Given the description of an element on the screen output the (x, y) to click on. 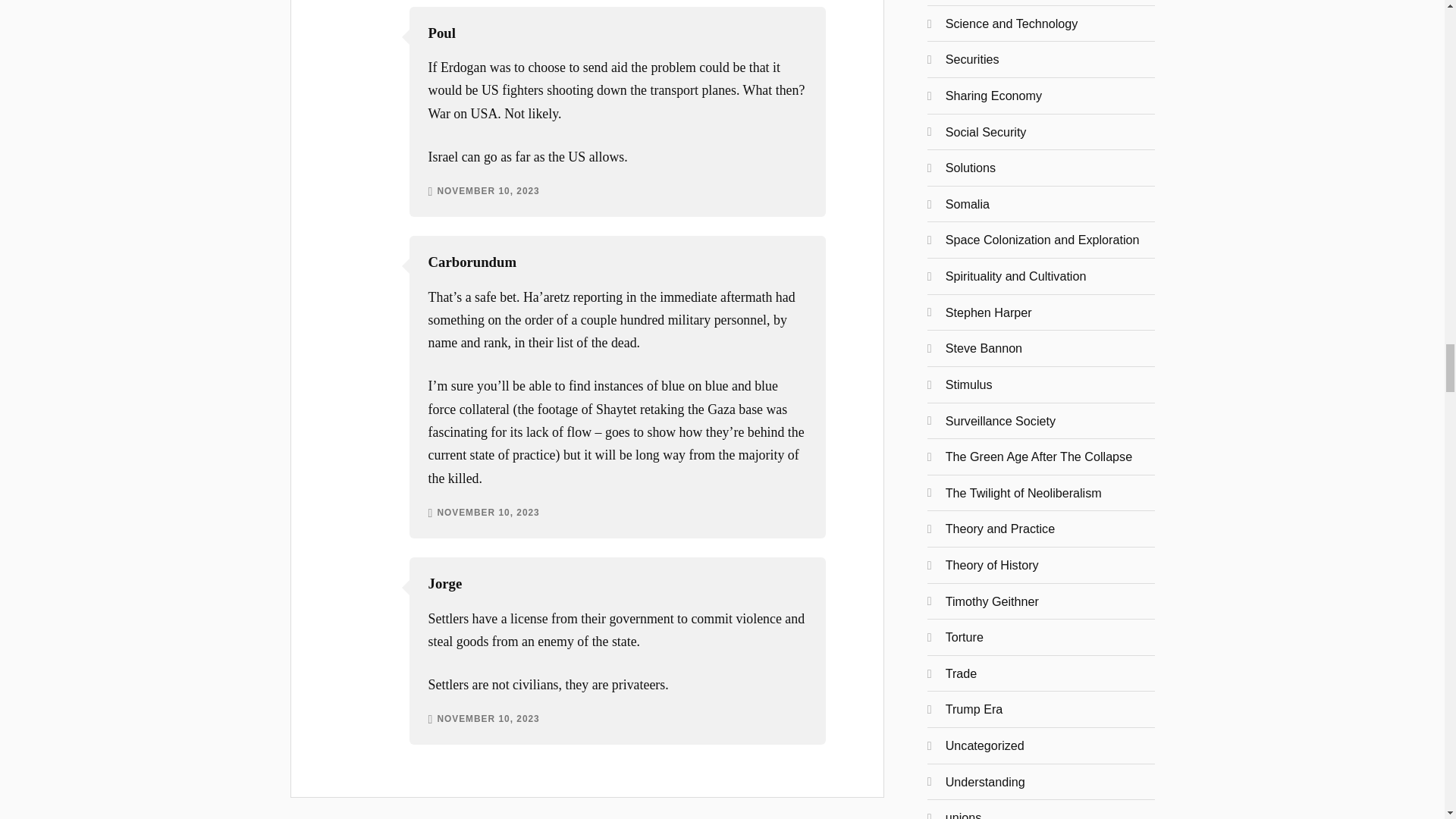
NOVEMBER 10, 2023 (487, 512)
NOVEMBER 10, 2023 (487, 718)
NOVEMBER 10, 2023 (487, 191)
